Given the description of an element on the screen output the (x, y) to click on. 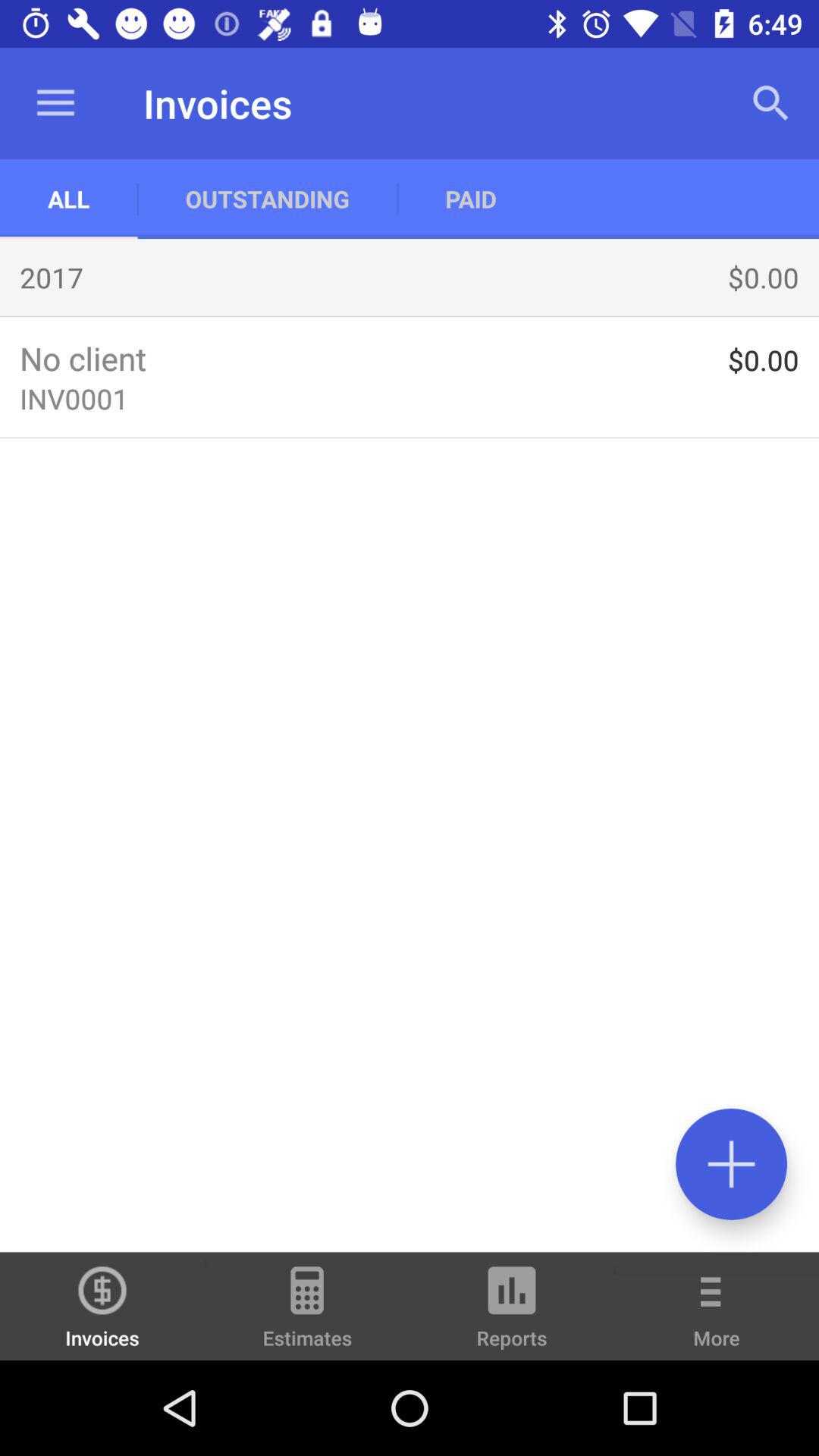
click the icon above the all icon (55, 103)
